Given the description of an element on the screen output the (x, y) to click on. 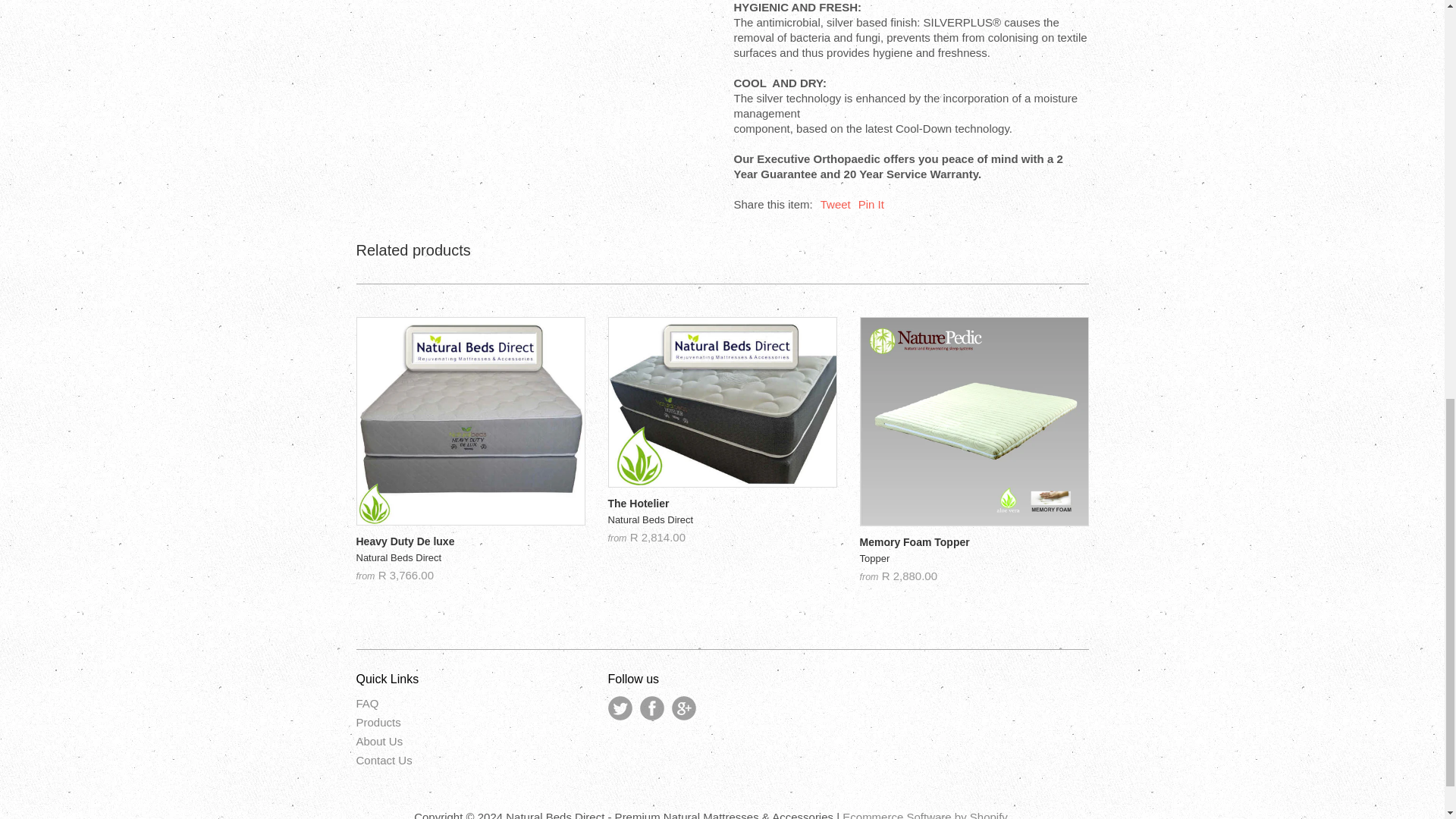
Contact Us (974, 558)
Tweet (384, 759)
About Us (835, 204)
Ecommerce Software by Shopify (722, 520)
About Us (379, 740)
Twitter (470, 558)
Products (925, 814)
FAQ (379, 740)
Contact Us (619, 708)
Products (378, 721)
FAQ (367, 703)
Facebook (384, 759)
